Given the description of an element on the screen output the (x, y) to click on. 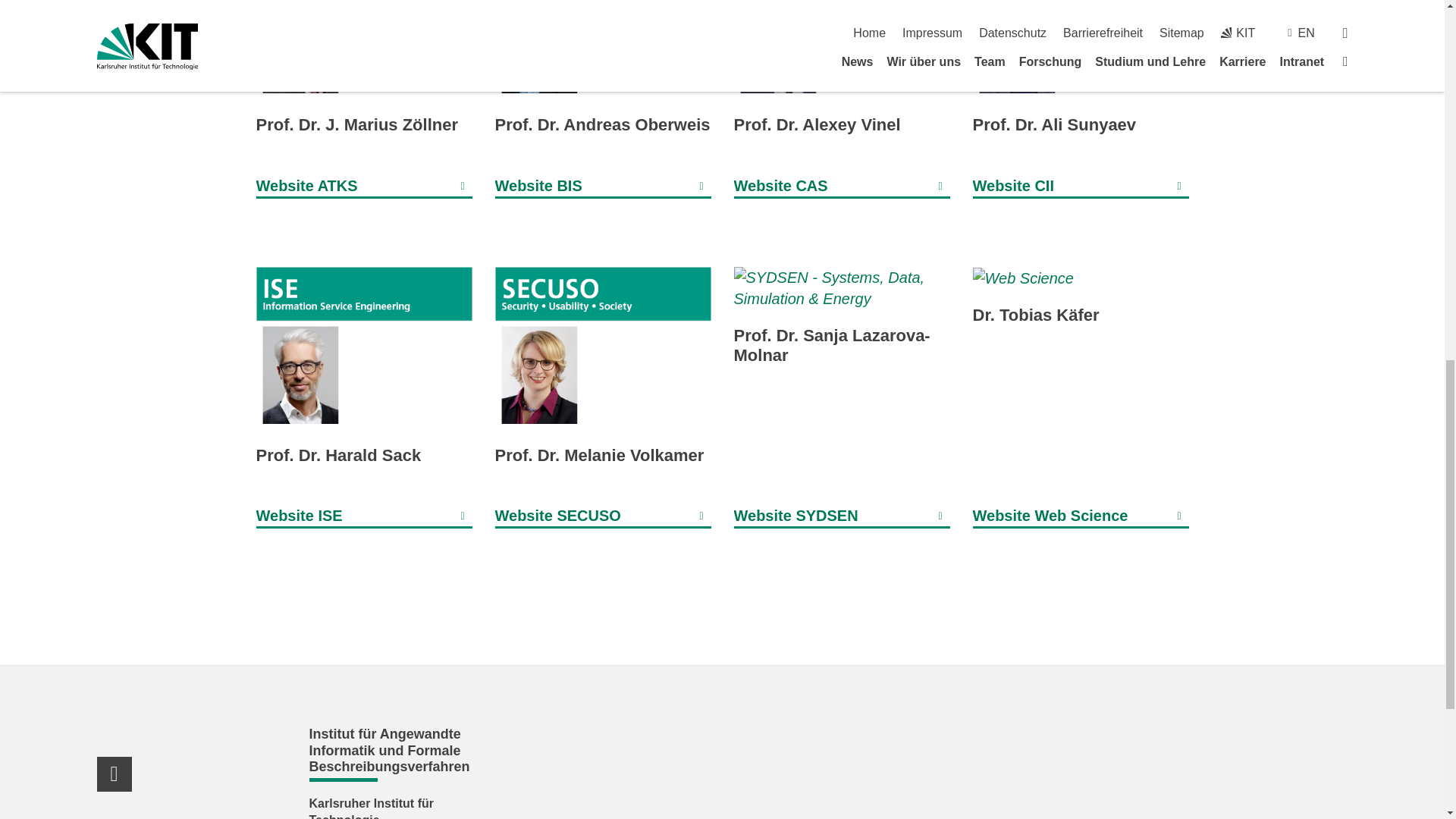
RSS-Feed (114, 773)
